Given the description of an element on the screen output the (x, y) to click on. 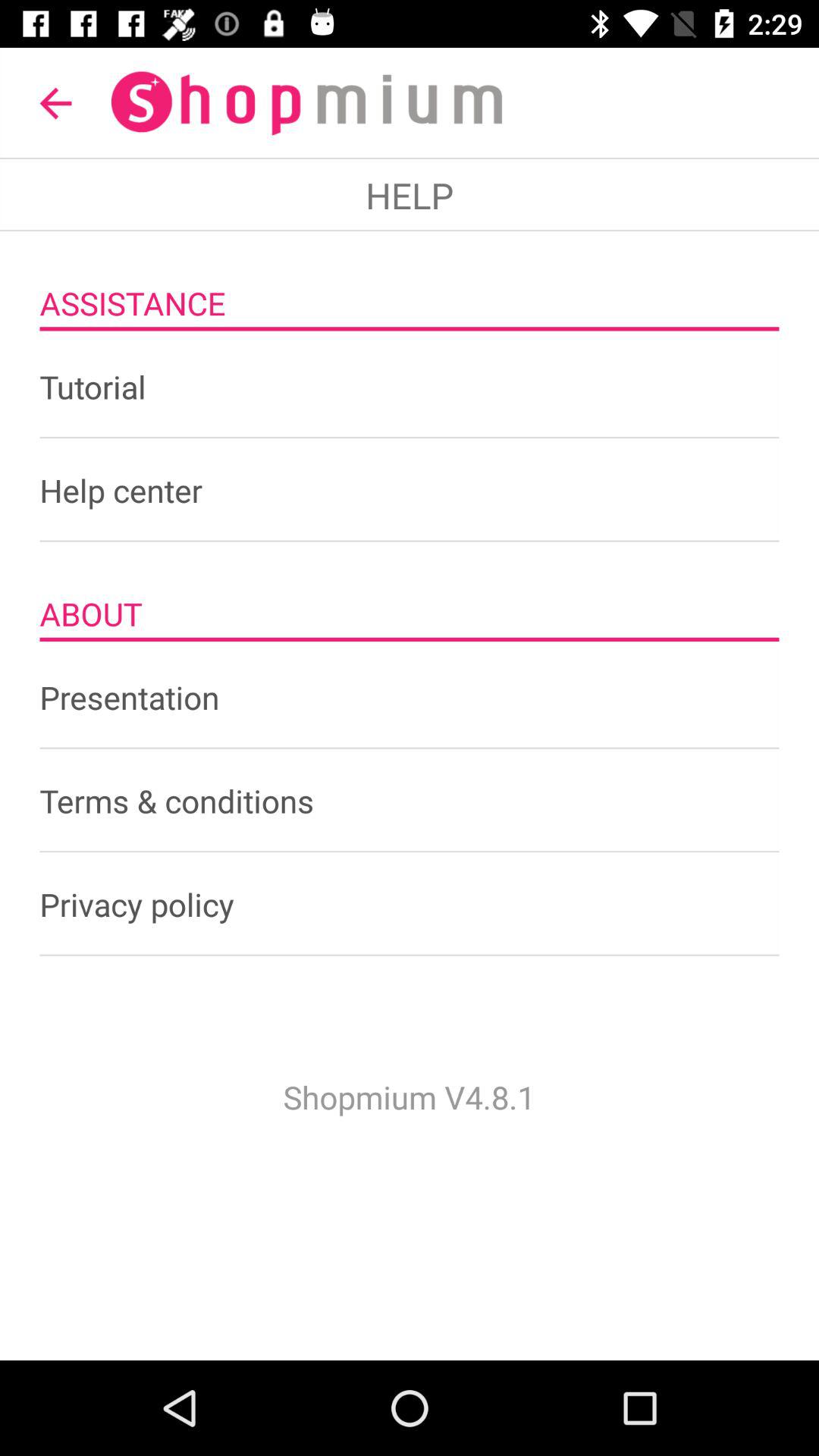
launch presentation item (409, 697)
